Given the description of an element on the screen output the (x, y) to click on. 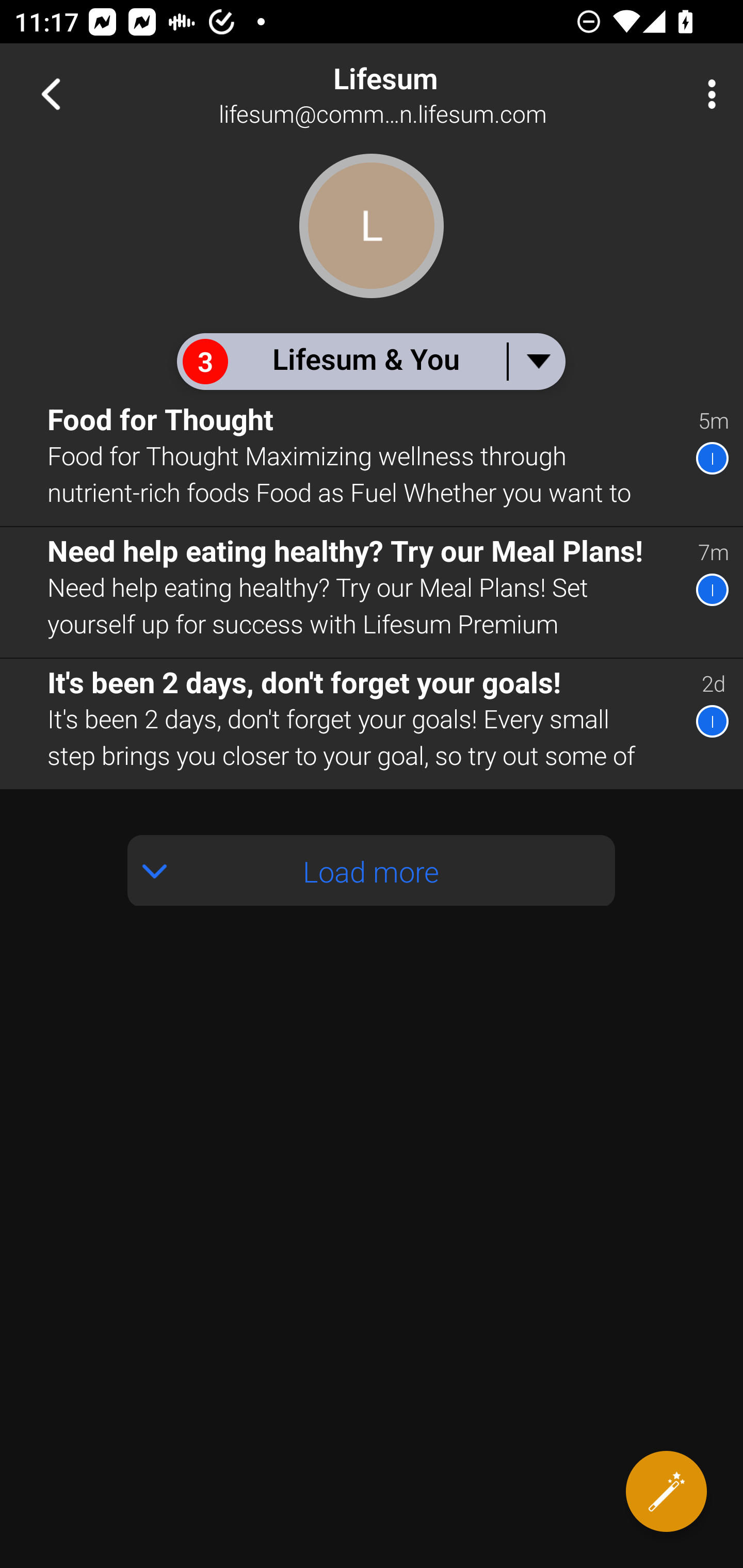
Navigate up (50, 93)
Lifesum lifesum@communication.lifesum.com (436, 93)
More Options (706, 93)
3 Lifesum & You (370, 361)
Load more (371, 870)
